Given the description of an element on the screen output the (x, y) to click on. 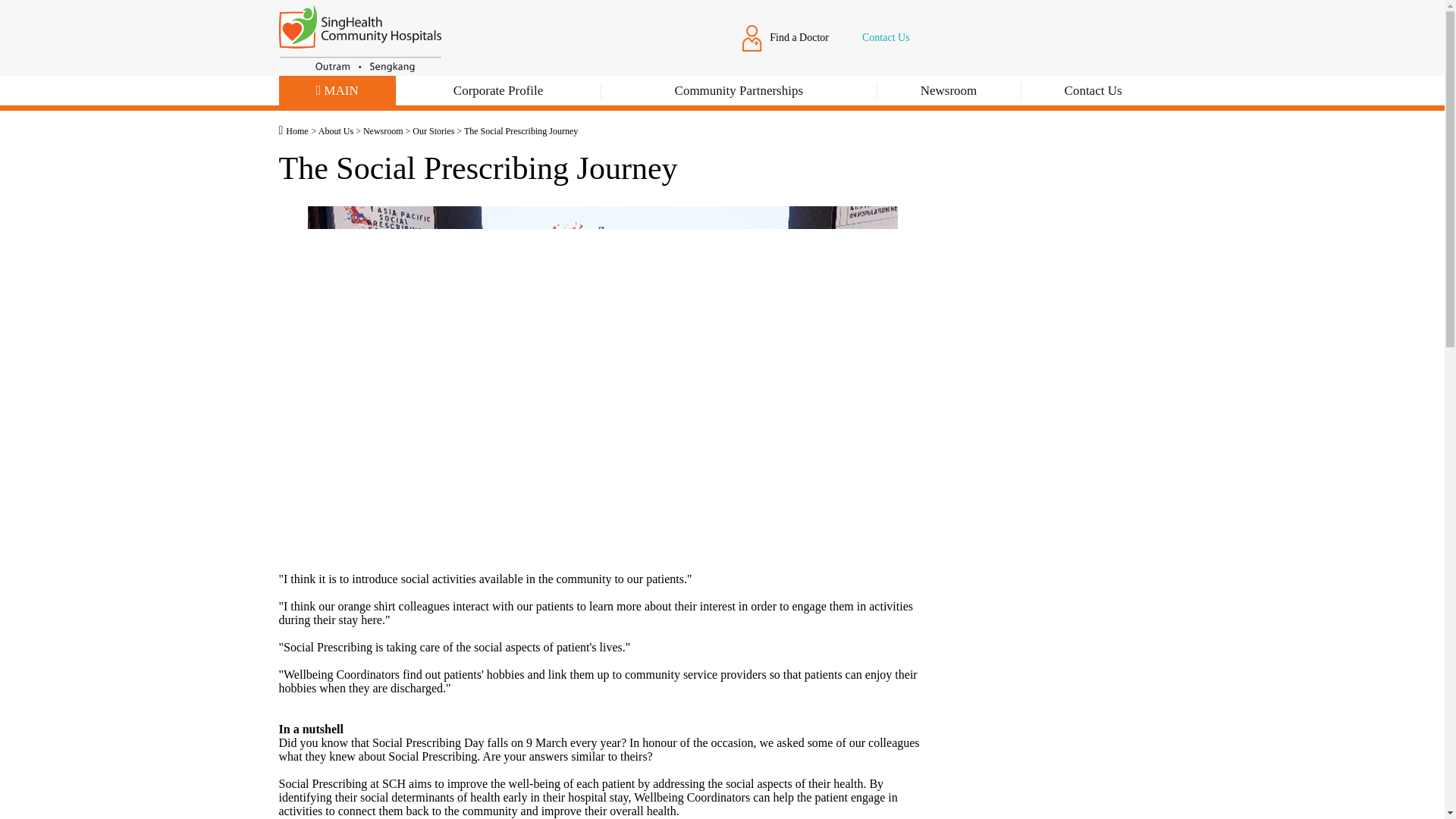
Find a Doctor (785, 37)
MAIN (337, 93)
Contact Us (881, 37)
Corporate Profile (497, 93)
